Given the description of an element on the screen output the (x, y) to click on. 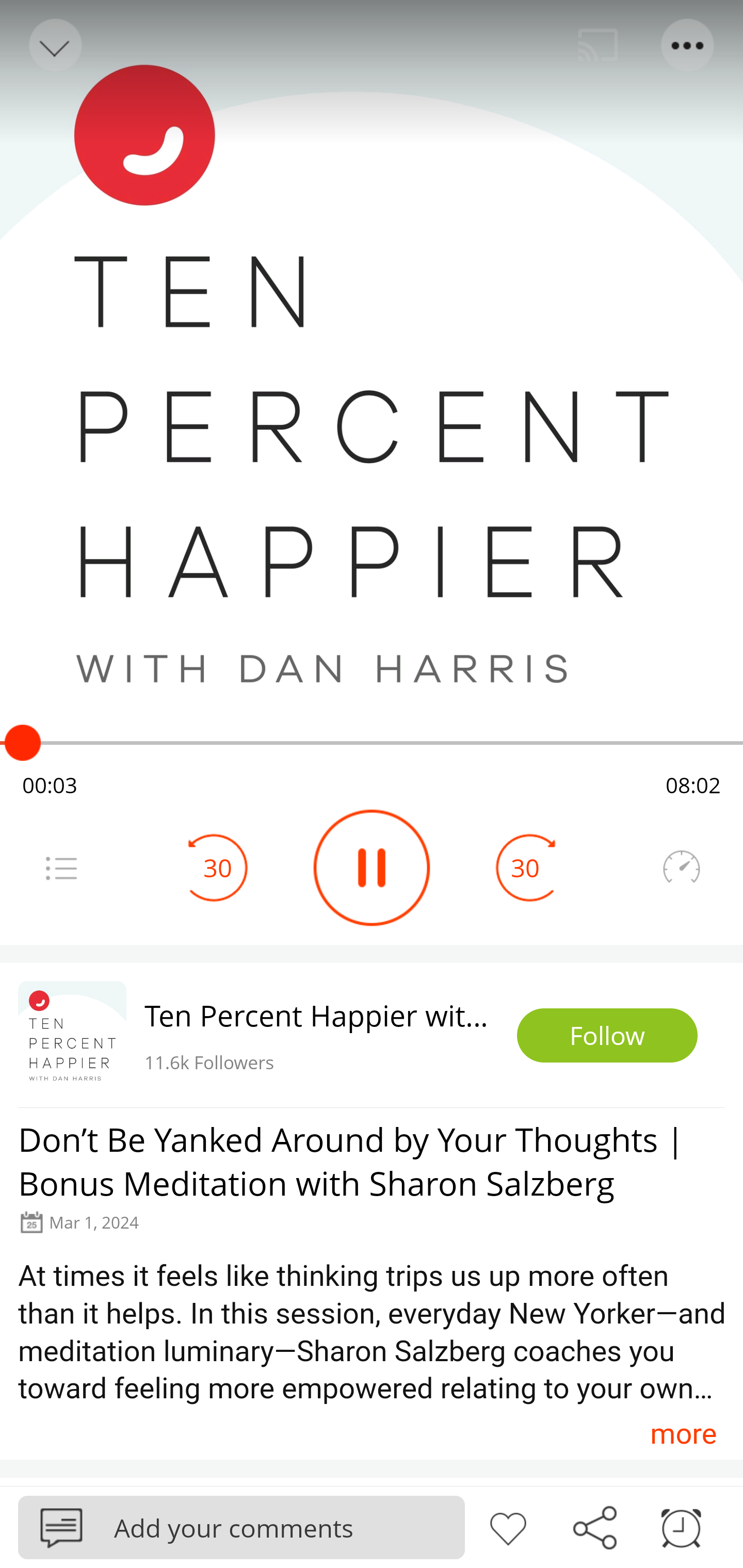
Back (53, 45)
Cast. Disconnected (597, 45)
Menu (688, 45)
Play (371, 867)
30 Seek Backward (217, 867)
30 Seek Forward (525, 867)
Menu (60, 867)
Speedometer (681, 867)
Follow (607, 1035)
more (682, 1432)
Like (508, 1526)
Share (594, 1526)
Sleep timer (681, 1526)
Podbean Add your comments (241, 1526)
